Given the description of an element on the screen output the (x, y) to click on. 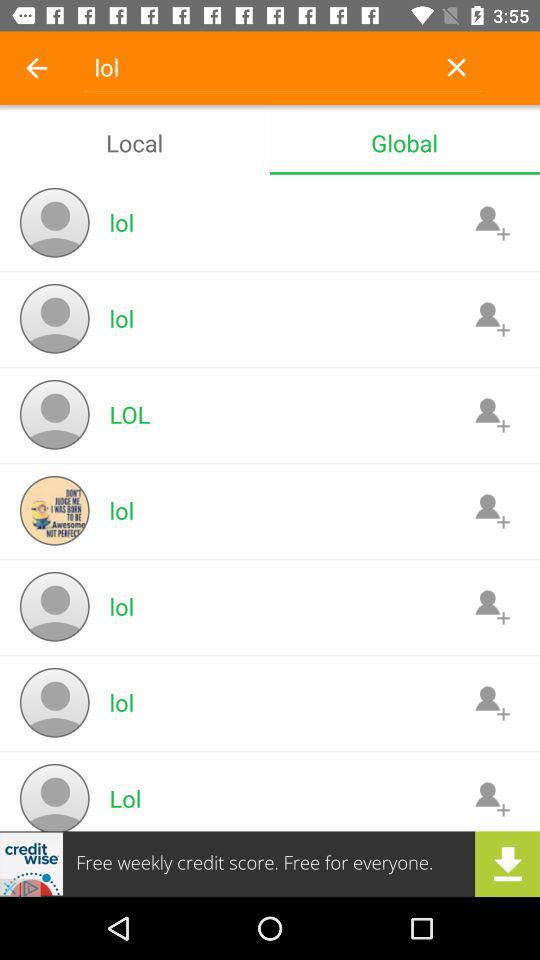
add contact (492, 318)
